Given the description of an element on the screen output the (x, y) to click on. 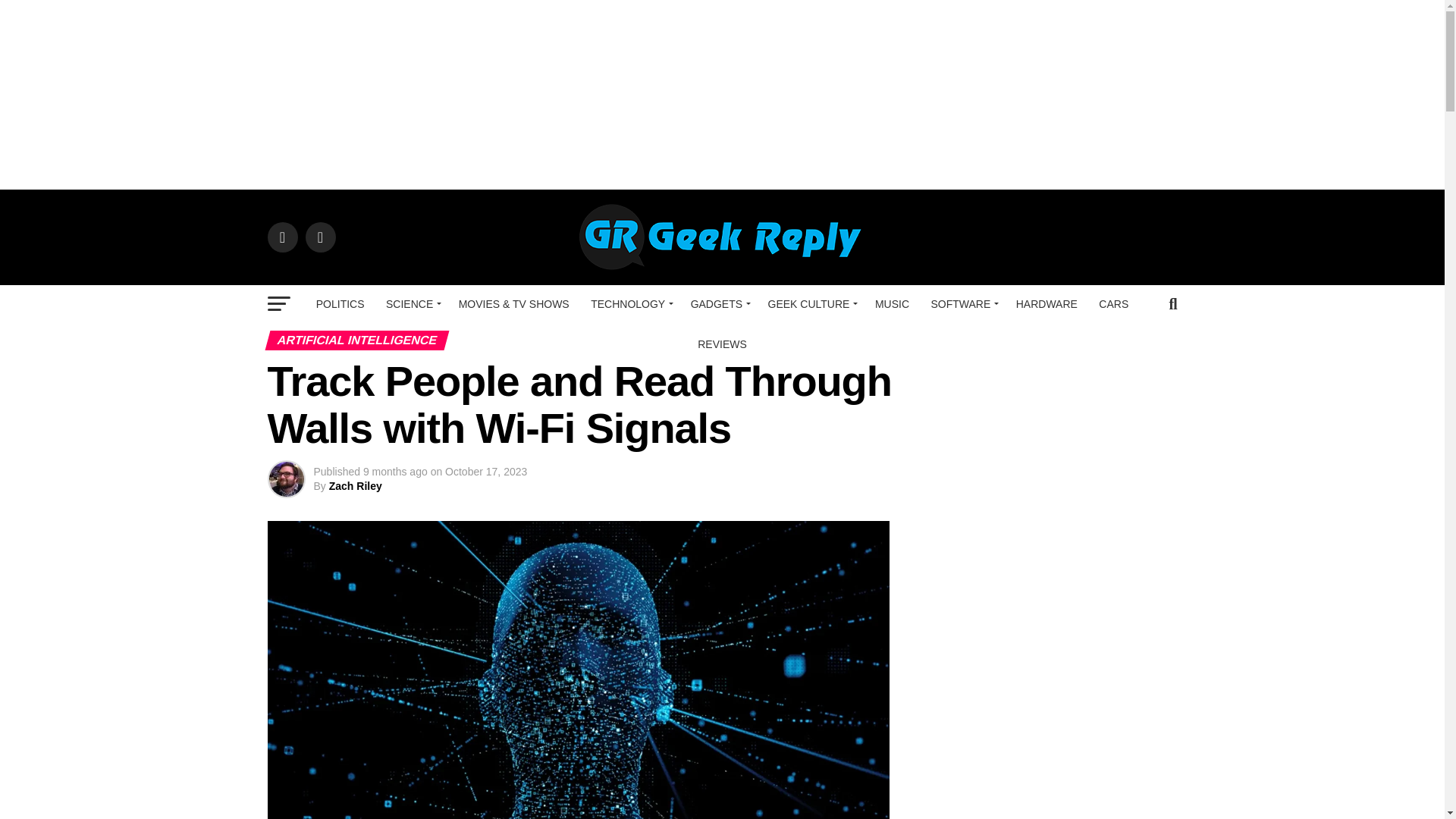
Posts by Zach Riley (355, 485)
